Given the description of an element on the screen output the (x, y) to click on. 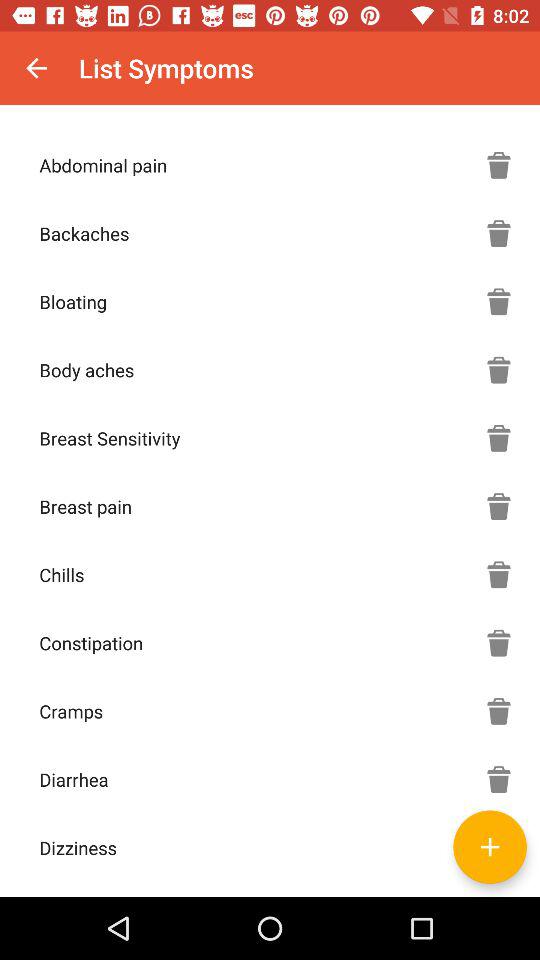
delete (499, 233)
